Given the description of an element on the screen output the (x, y) to click on. 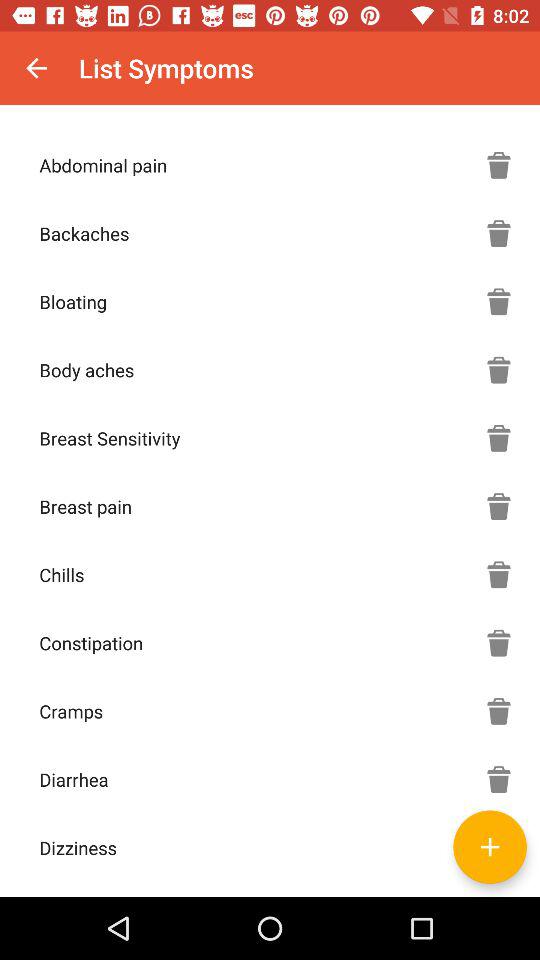
delete (499, 233)
